Given the description of an element on the screen output the (x, y) to click on. 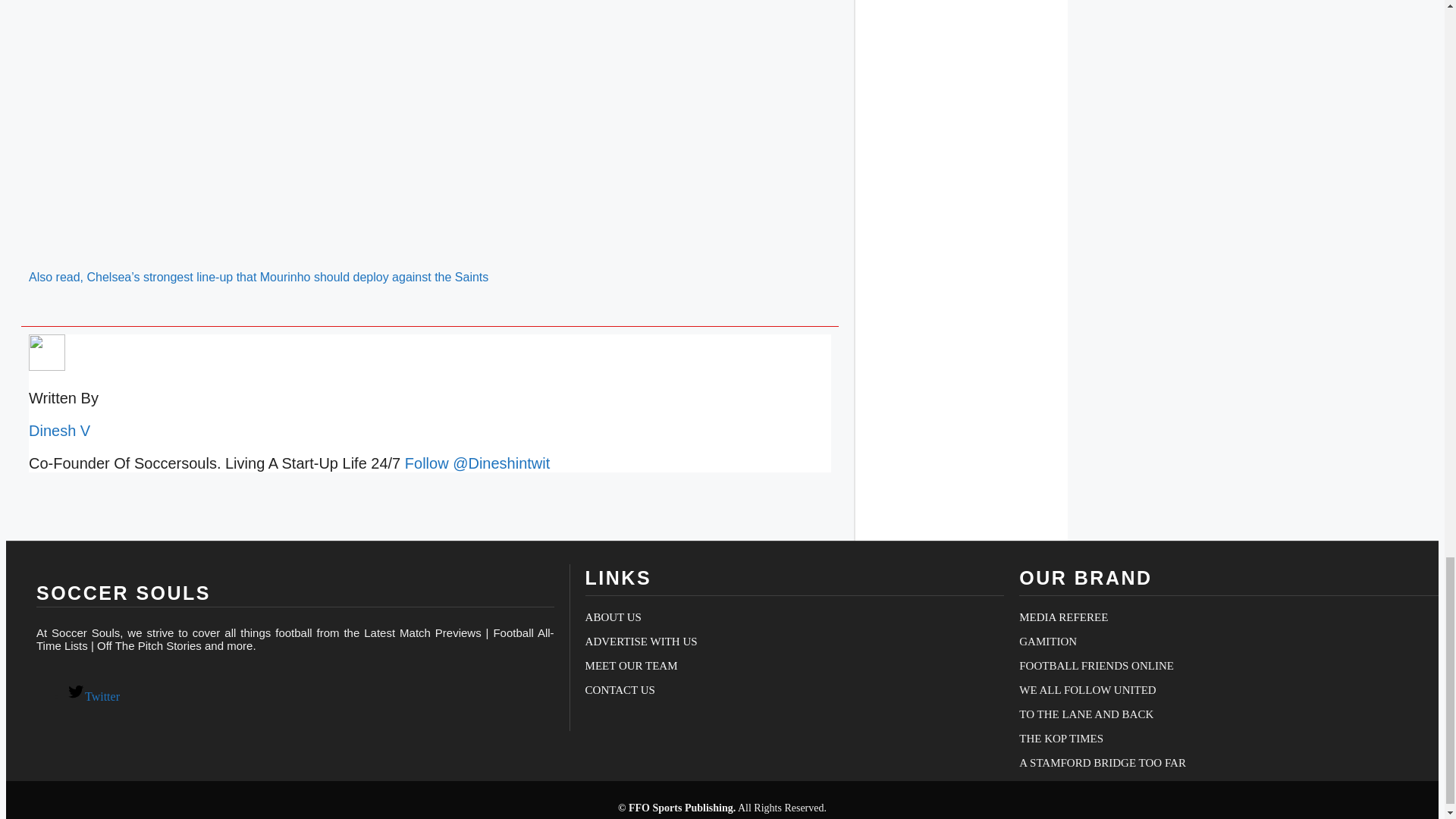
WE ALL FOLLOW UNITED (1087, 689)
THE KOP TIMES (1061, 738)
MEDIA REFEREE (1063, 616)
GAMITION (1048, 641)
MEET OUR TEAM (631, 665)
Dinesh V (59, 430)
Twitter (92, 696)
TO THE LANE AND BACK (1086, 714)
ADVERTISE WITH US (641, 641)
CONTACT US (620, 689)
ABOUT US (613, 616)
A STAMFORD BRIDGE TOO FAR (1102, 762)
FOOTBALL FRIENDS ONLINE (1096, 665)
